Given the description of an element on the screen output the (x, y) to click on. 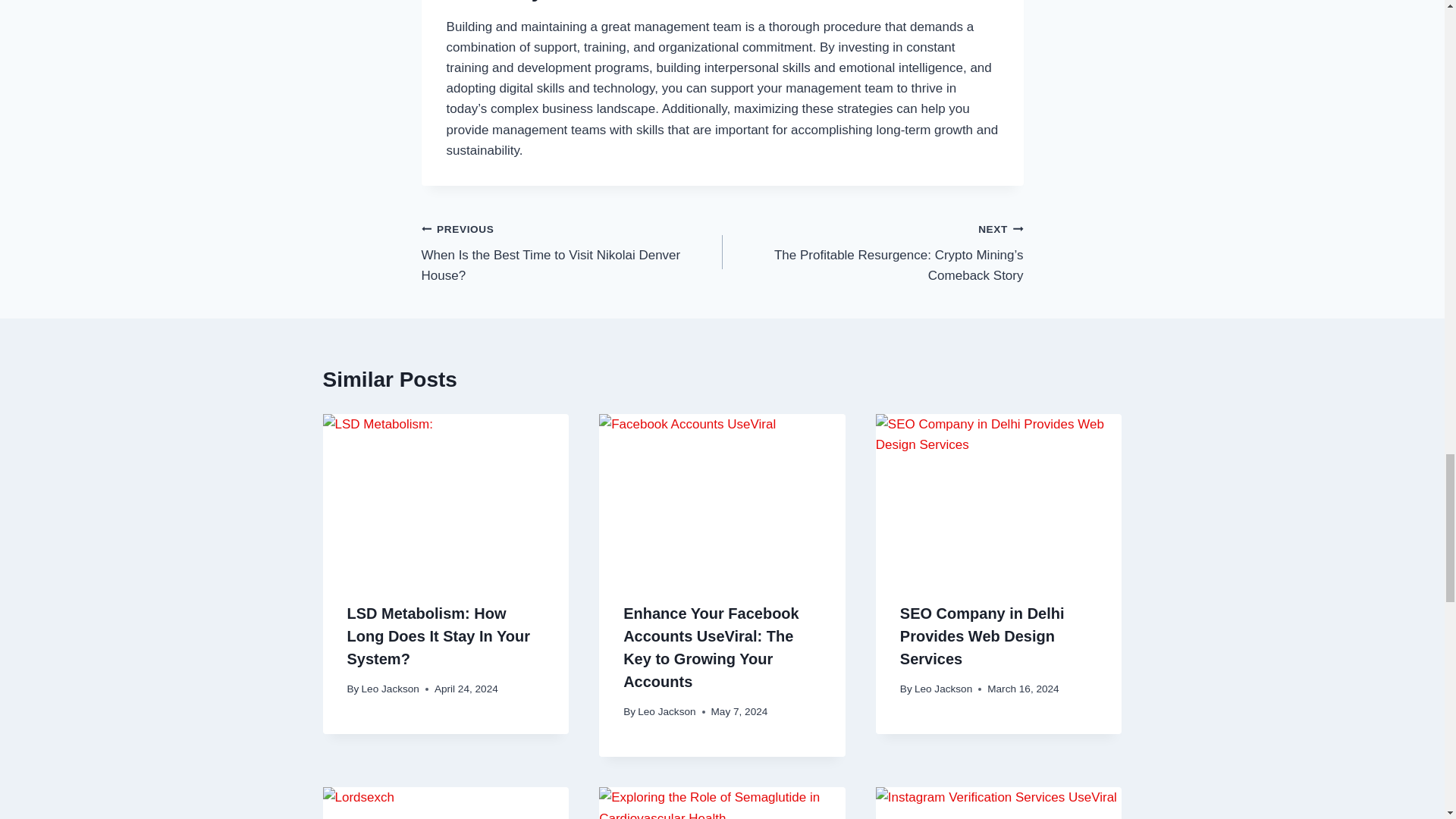
SEO Company in Delhi Provides Web Design Services (981, 636)
Leo Jackson (390, 688)
Leo Jackson (666, 711)
Leo Jackson (943, 688)
LSD Metabolism: How Long Does It Stay In Your System? (439, 636)
